Given the description of an element on the screen output the (x, y) to click on. 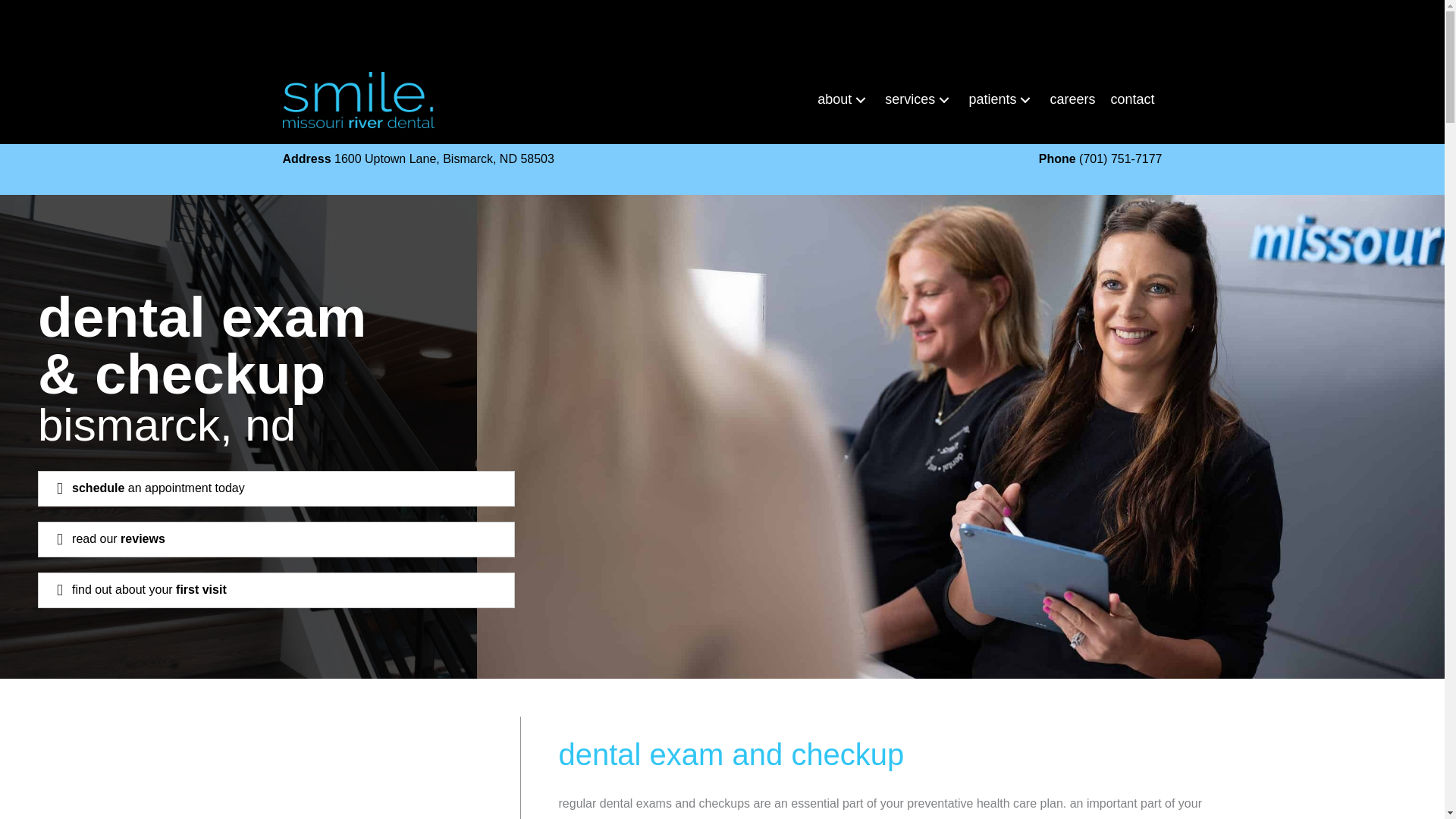
MRD Logo (357, 99)
about (843, 99)
services (918, 99)
